Given the description of an element on the screen output the (x, y) to click on. 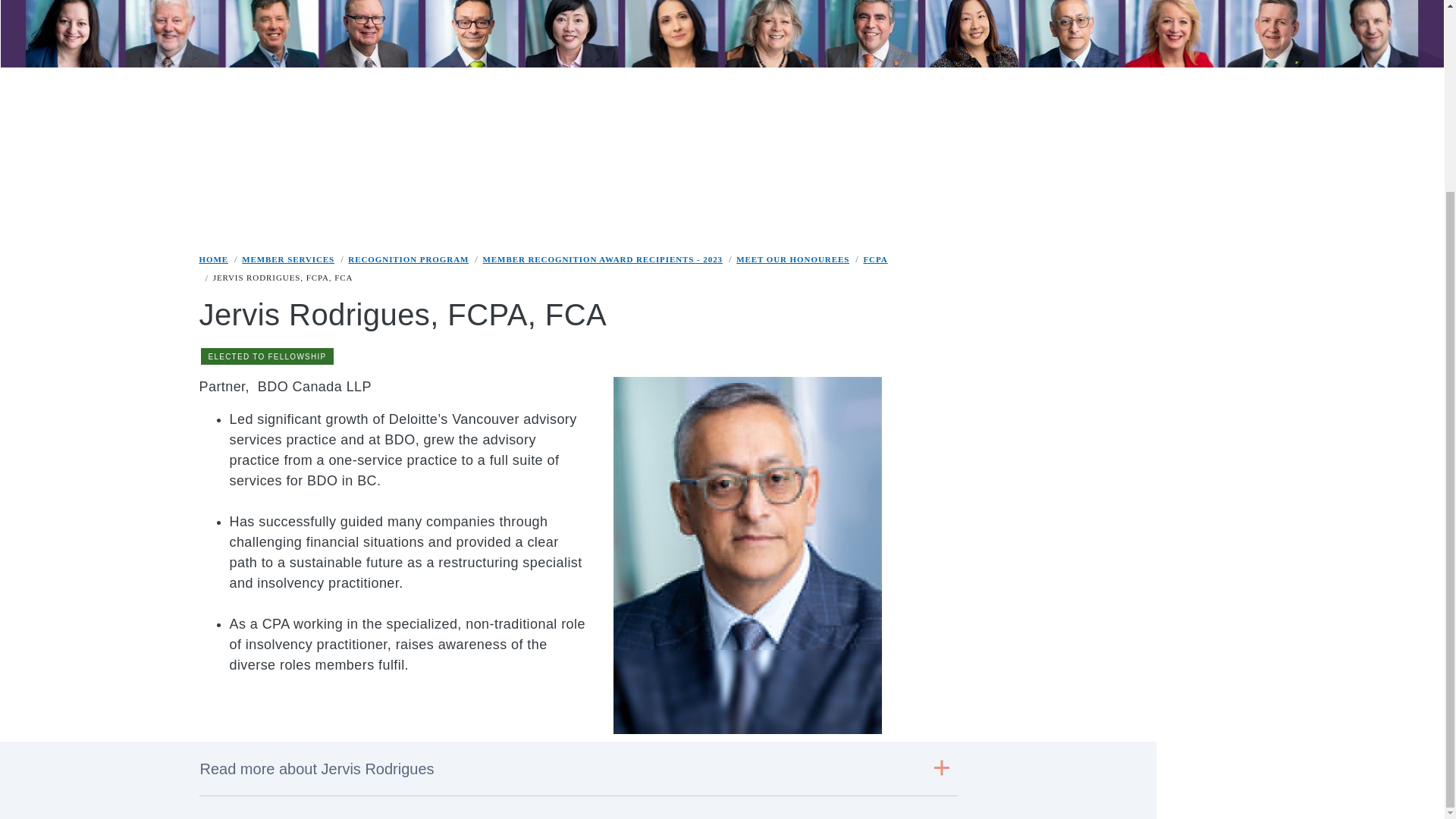
RECOGNITION PROGRAM (407, 259)
HOME (213, 259)
FCPA (874, 259)
MEMBER SERVICES (287, 259)
MEMBER RECOGNITION AWARD RECIPIENTS - 2023 (602, 259)
MEET OUR HONOUREES (792, 259)
Read more about Jervis Rodrigues (577, 769)
